Given the description of an element on the screen output the (x, y) to click on. 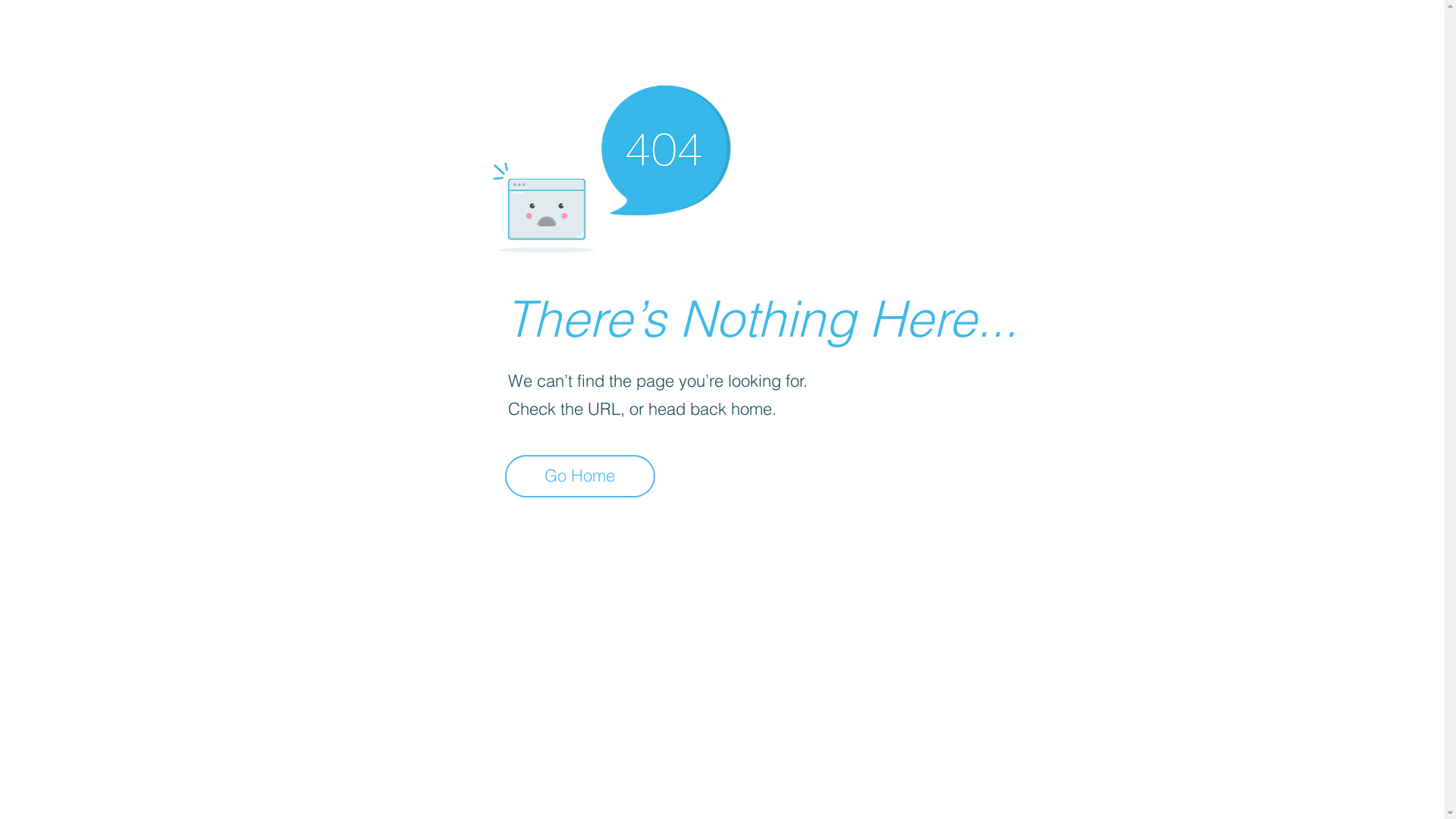
Go Home Element type: text (580, 476)
404-icon_2.png Element type: hover (610, 164)
